Given the description of an element on the screen output the (x, y) to click on. 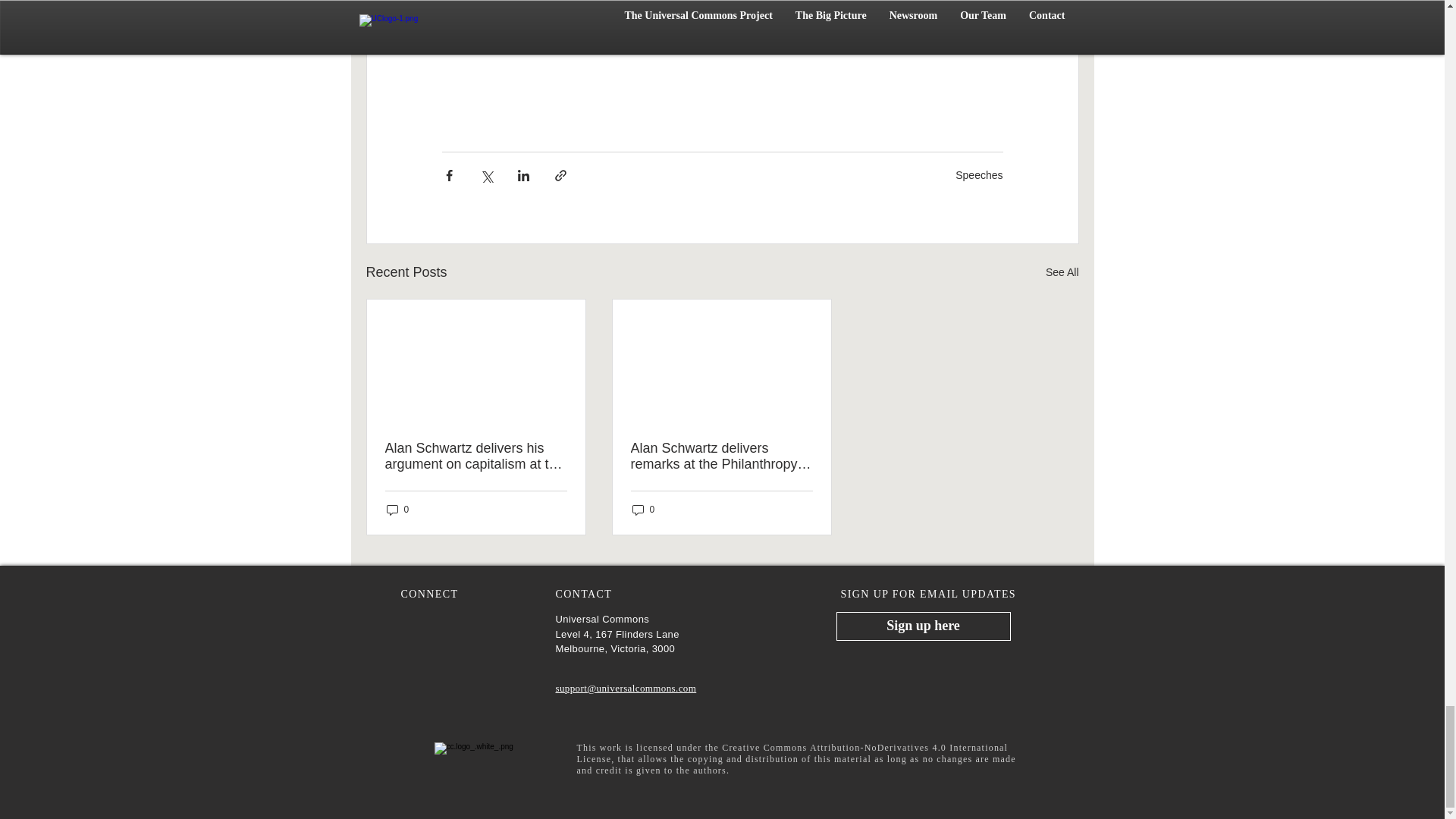
0 (643, 509)
See All (1061, 272)
0 (397, 509)
Sign up here (922, 625)
Speeches (979, 174)
